Given the description of an element on the screen output the (x, y) to click on. 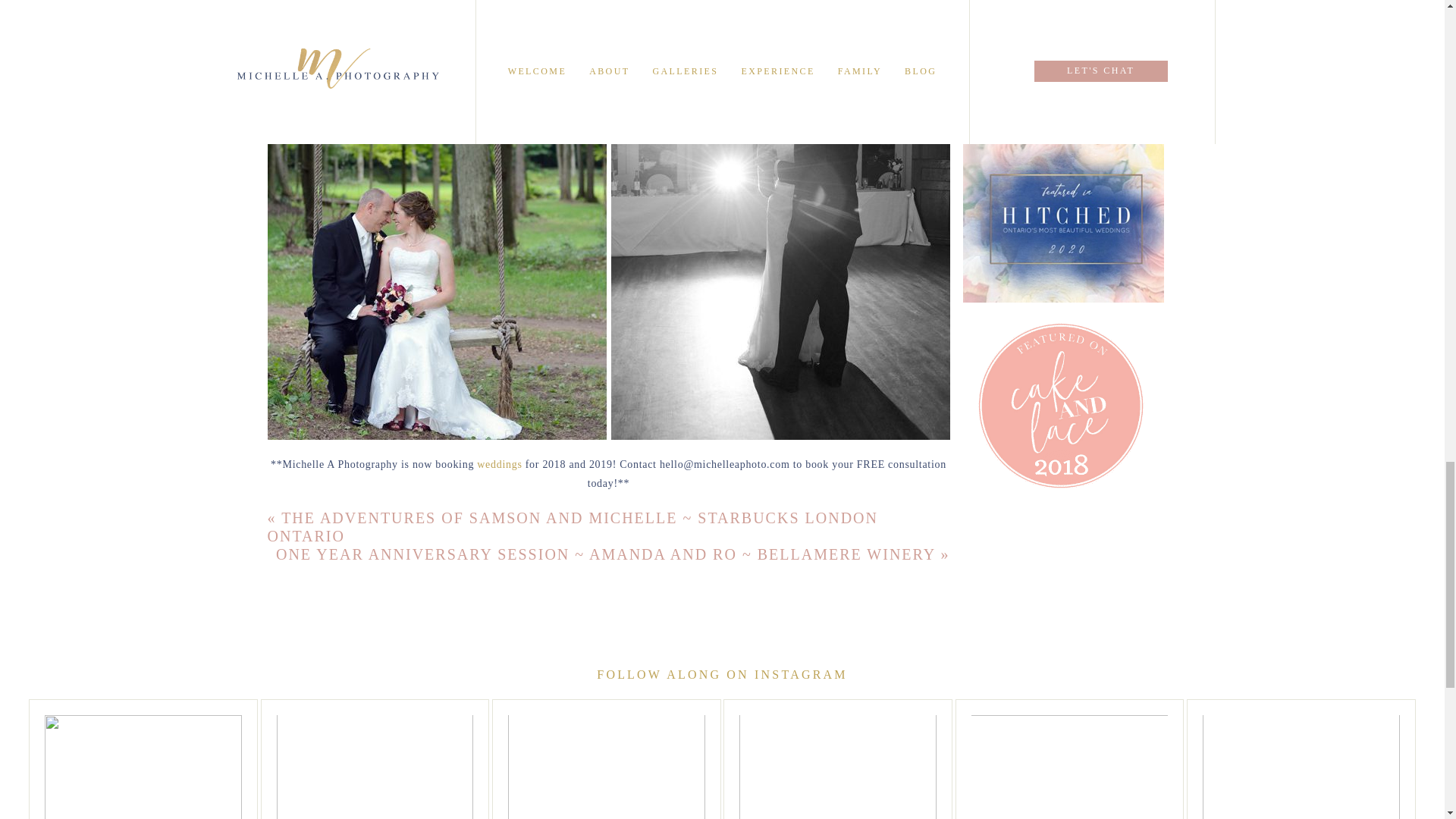
weddings (499, 464)
